Given the description of an element on the screen output the (x, y) to click on. 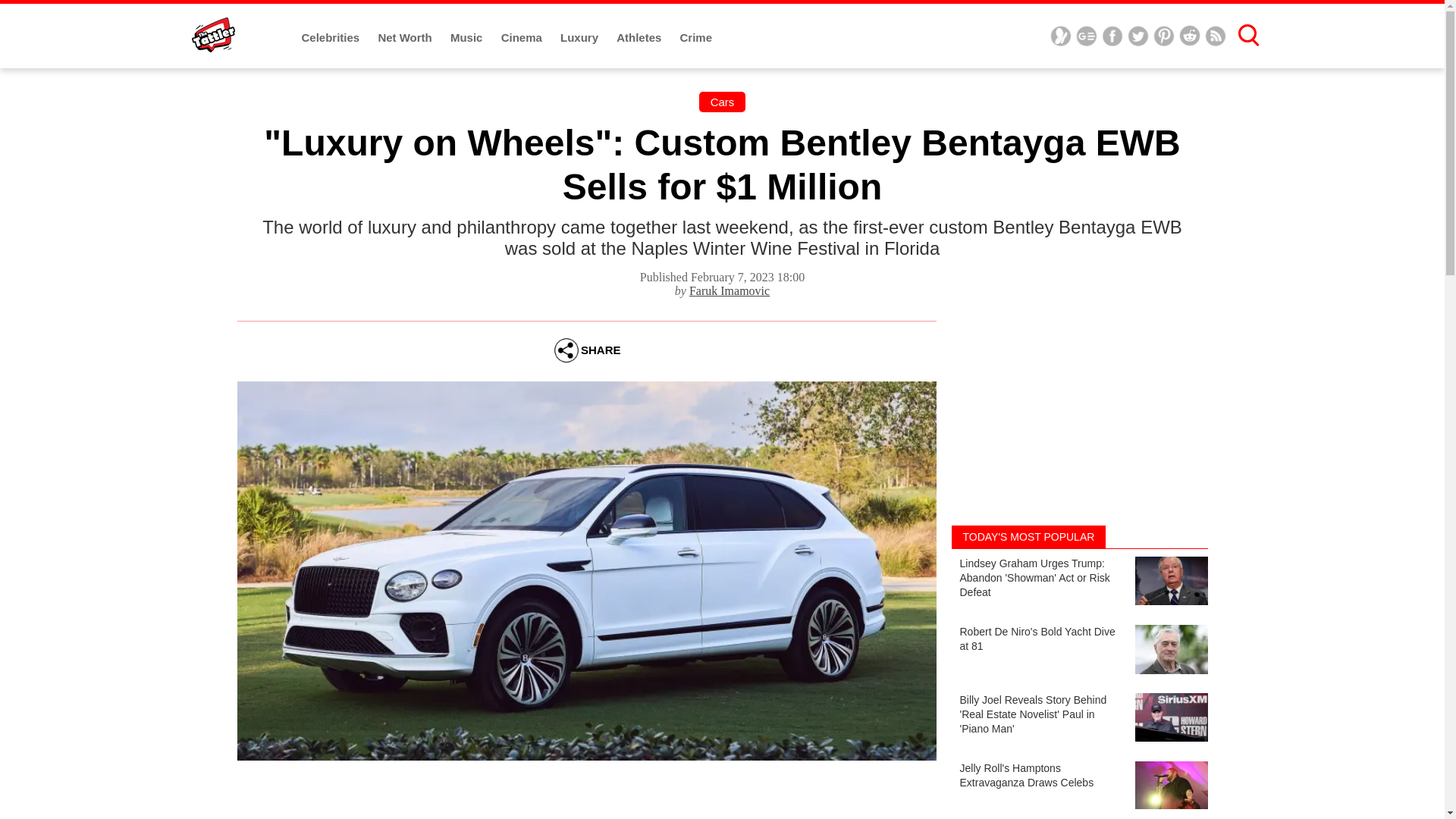
Net Worth (406, 37)
Luxury (580, 37)
Jelly Roll's Hamptons Extravaganza Draws Celebs (1078, 787)
Robert De Niro's Bold Yacht Dive at 81 (1078, 651)
Cars (722, 101)
Crime (696, 37)
Music (467, 37)
Celebrities (331, 37)
Athletes (639, 37)
